Given the description of an element on the screen output the (x, y) to click on. 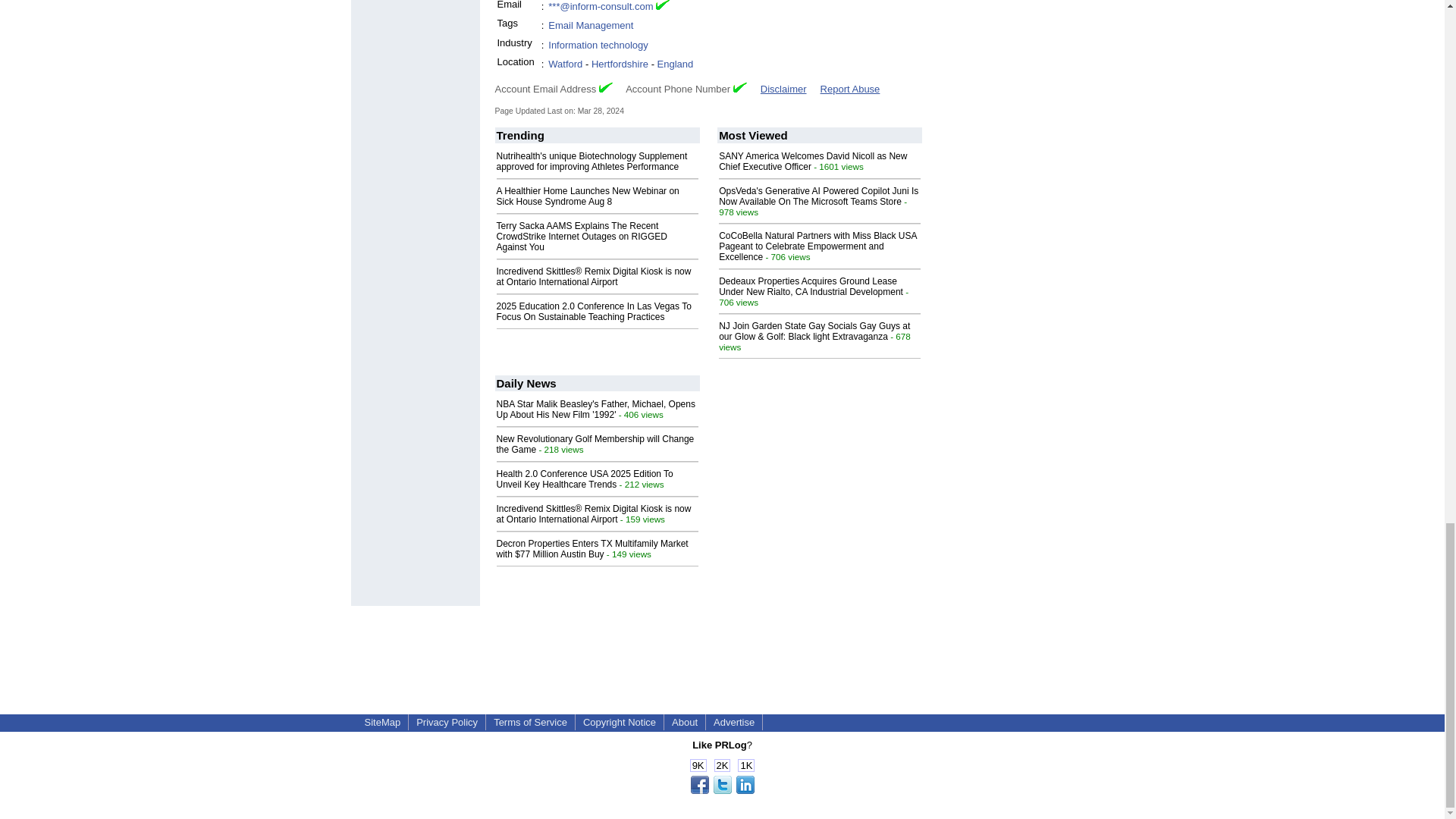
Share this page! (722, 790)
Verified (605, 87)
Email Verified (662, 7)
Verified (739, 87)
